Given the description of an element on the screen output the (x, y) to click on. 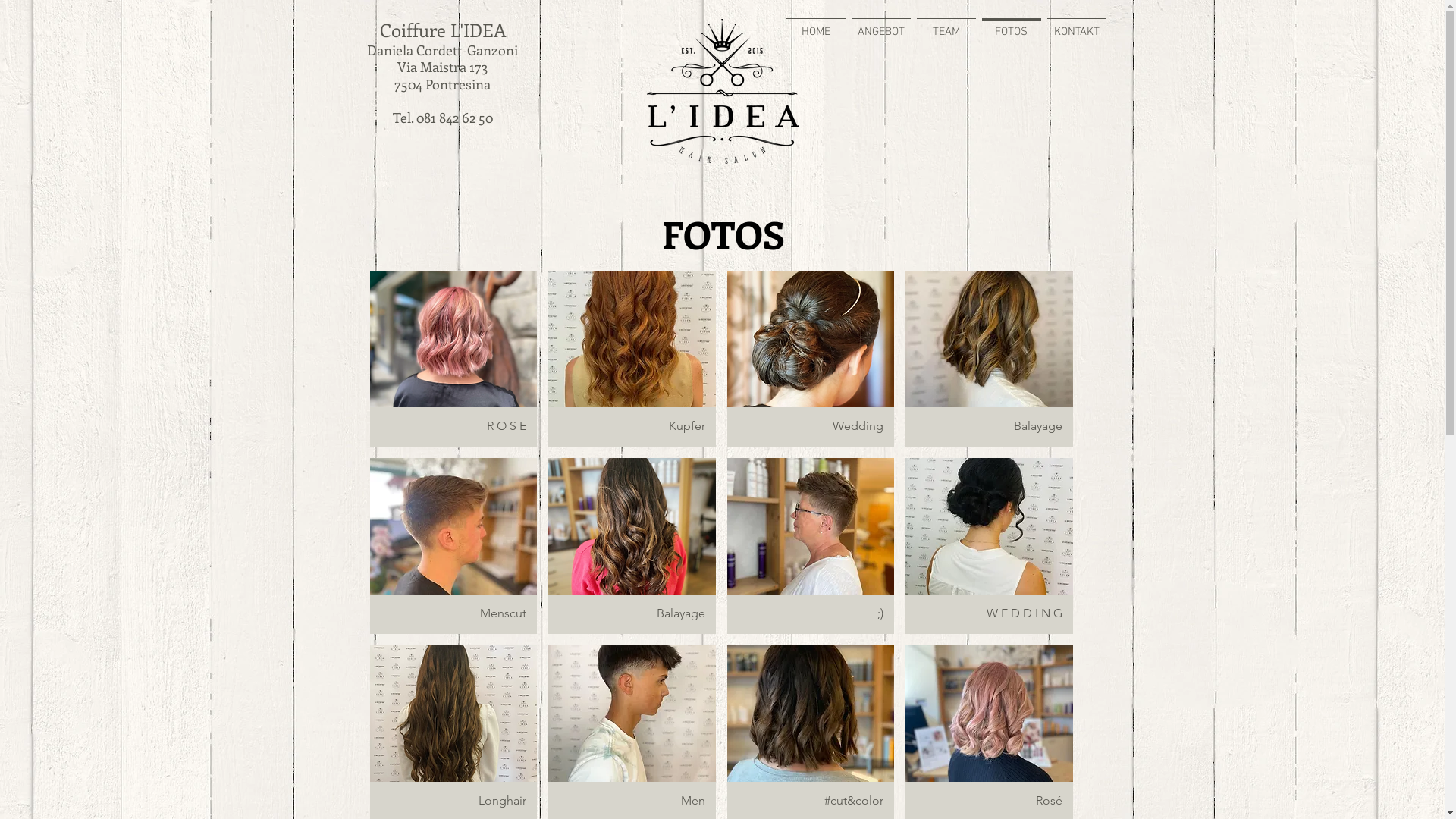
ANGEBOT Element type: text (880, 24)
HOME Element type: text (814, 24)
TEAM Element type: text (945, 24)
KONTAKT Element type: text (1075, 24)
FOTOS Element type: text (1010, 24)
